Given the description of an element on the screen output the (x, y) to click on. 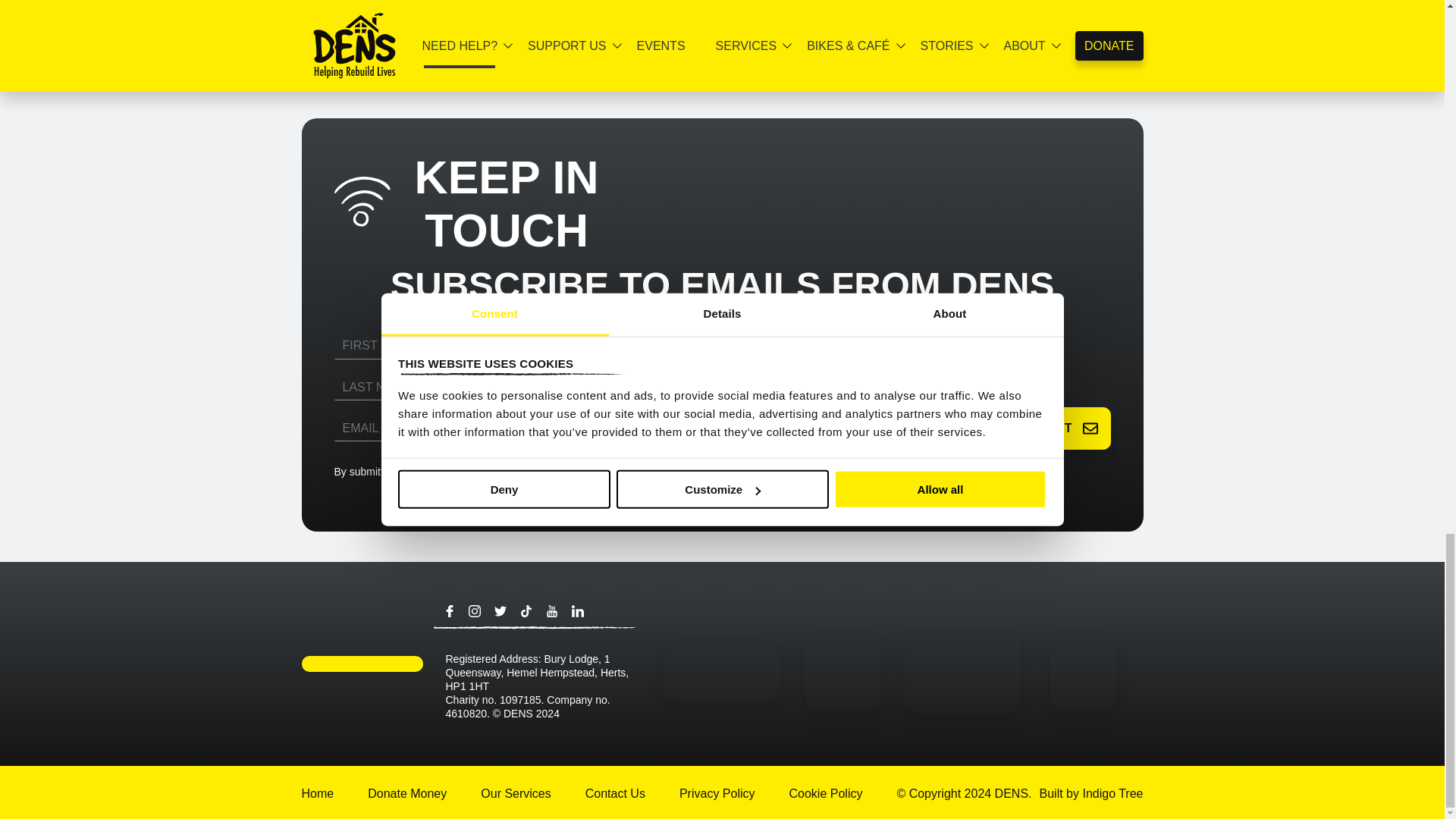
Submit (1058, 428)
